Given the description of an element on the screen output the (x, y) to click on. 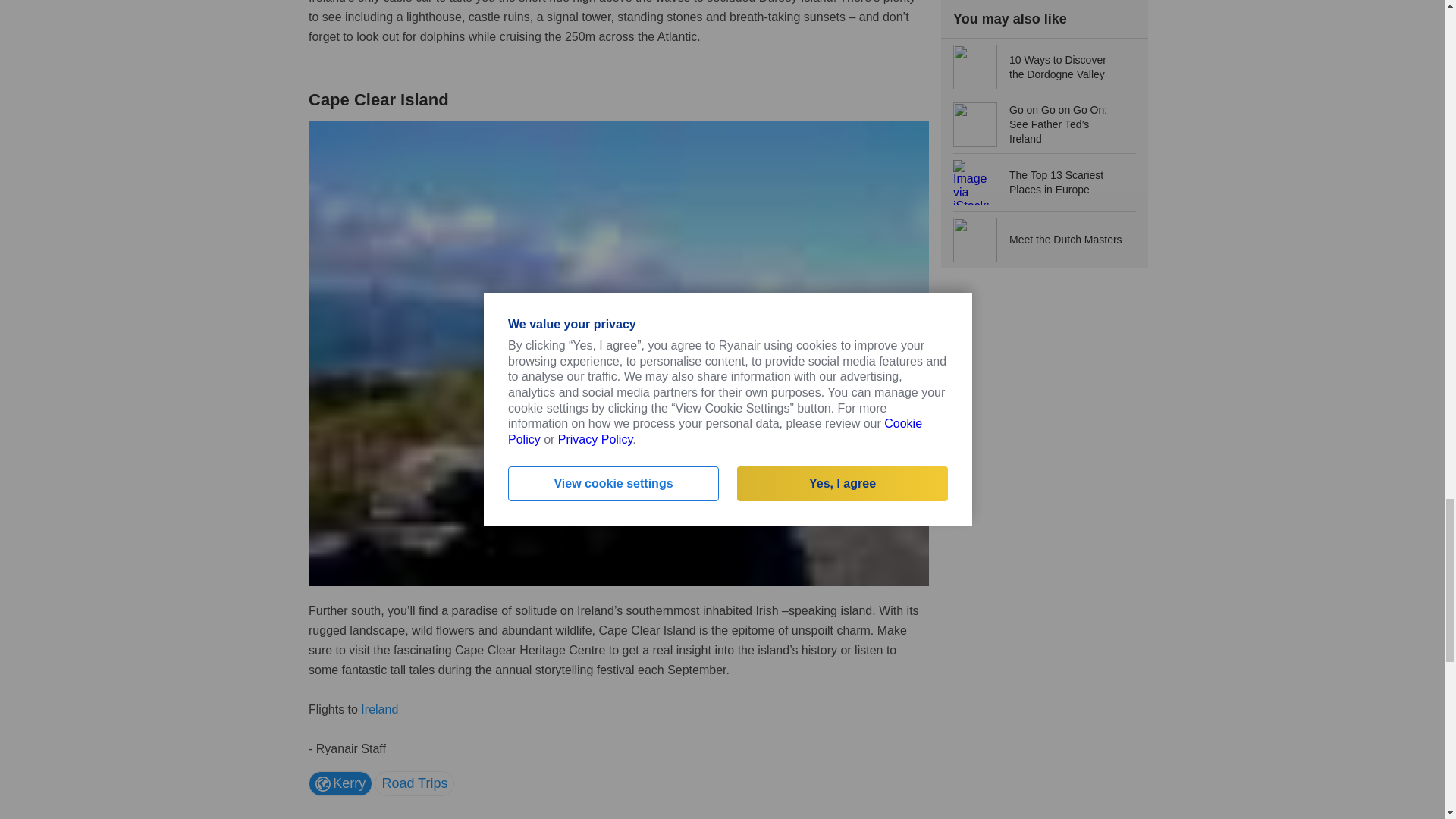
Ireland (379, 708)
Kerry (340, 783)
Road Trips (414, 783)
